Given the description of an element on the screen output the (x, y) to click on. 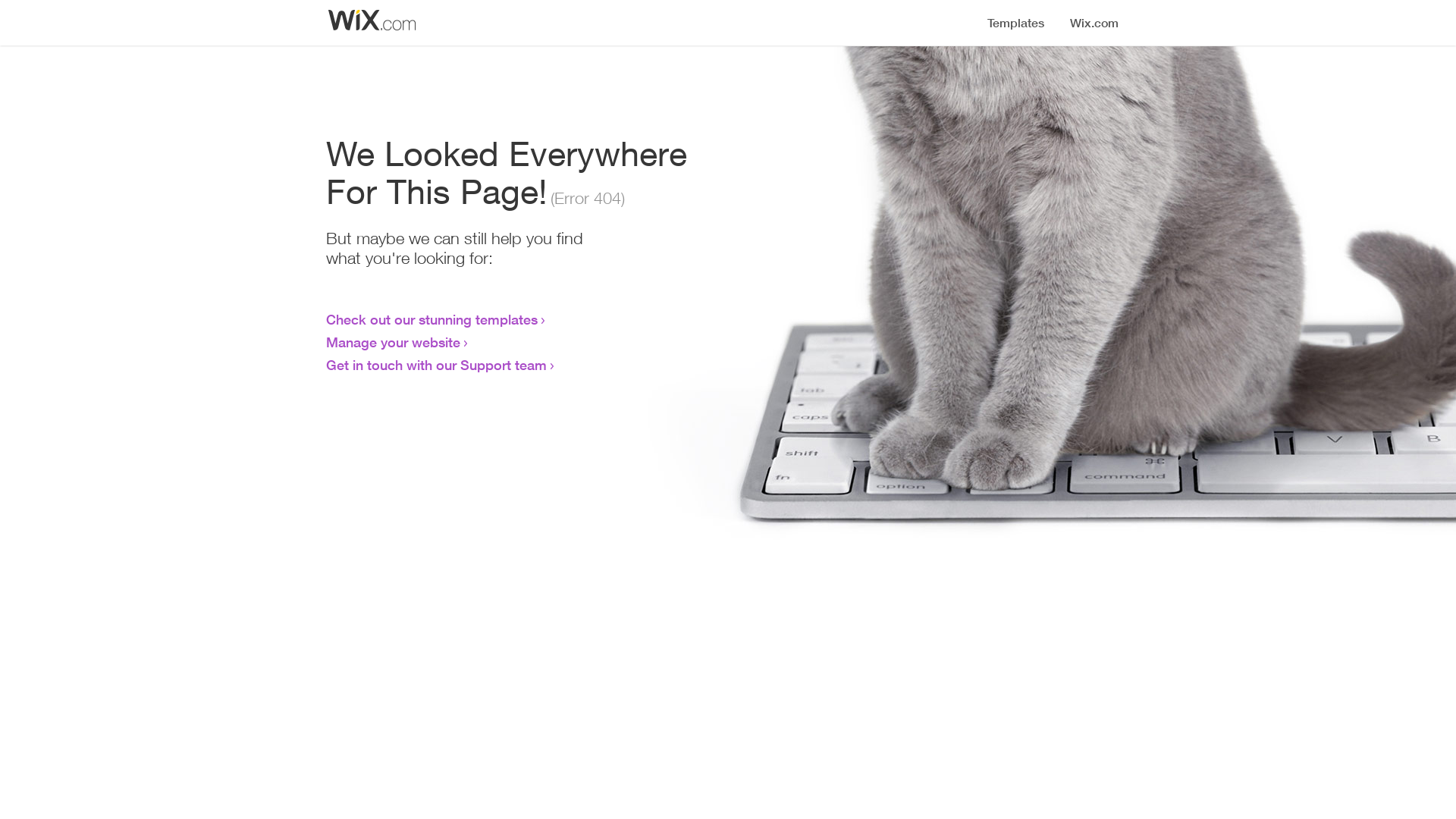
Manage your website Element type: text (393, 341)
Check out our stunning templates Element type: text (431, 318)
Get in touch with our Support team Element type: text (436, 364)
